Given the description of an element on the screen output the (x, y) to click on. 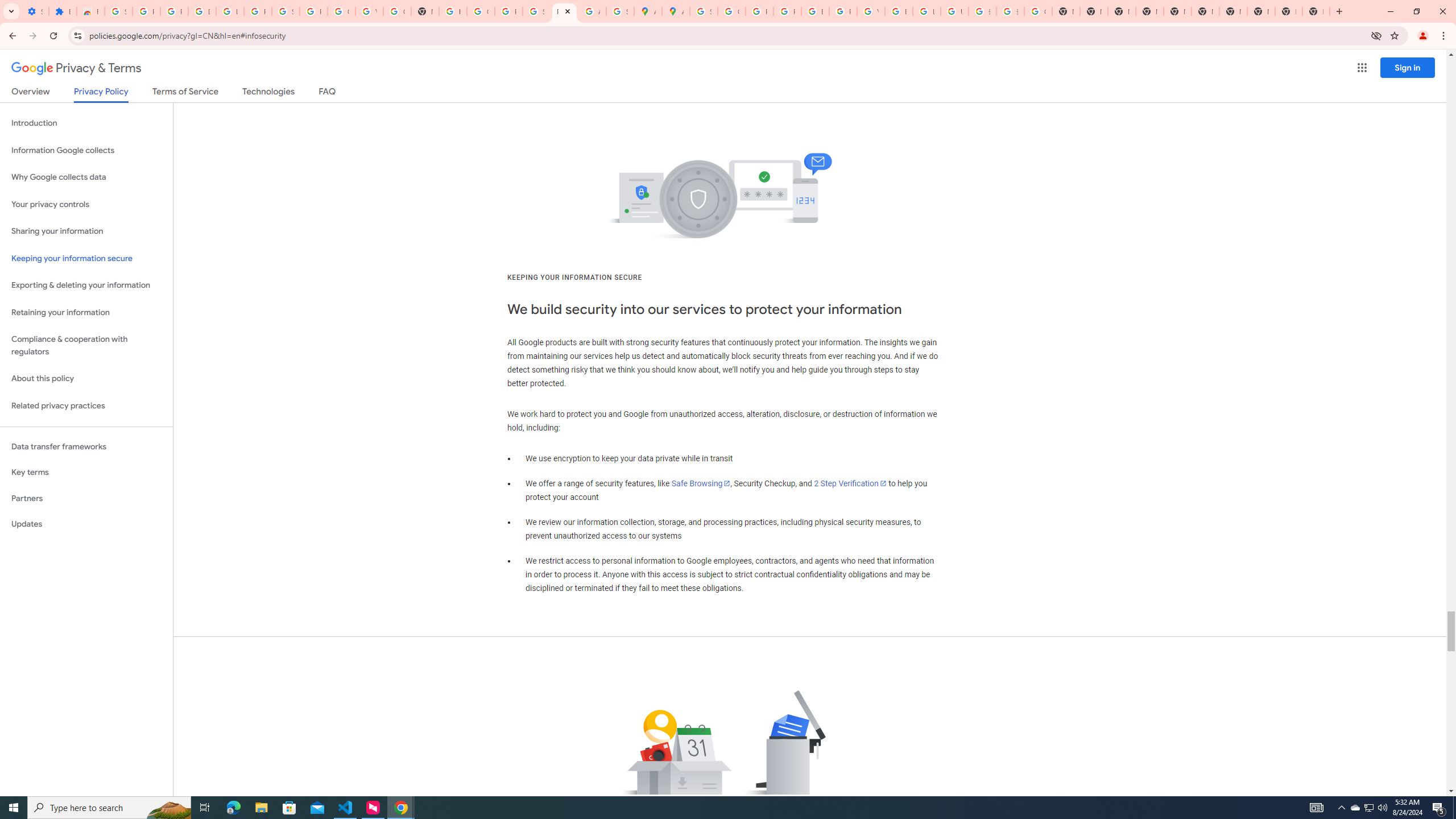
Sign in - Google Accounts (703, 11)
Compliance & cooperation with regulators (86, 345)
New Tab (1150, 11)
Sharing your information (86, 230)
Google Account (341, 11)
Privacy Help Center - Policies Help (759, 11)
